Given the description of an element on the screen output the (x, y) to click on. 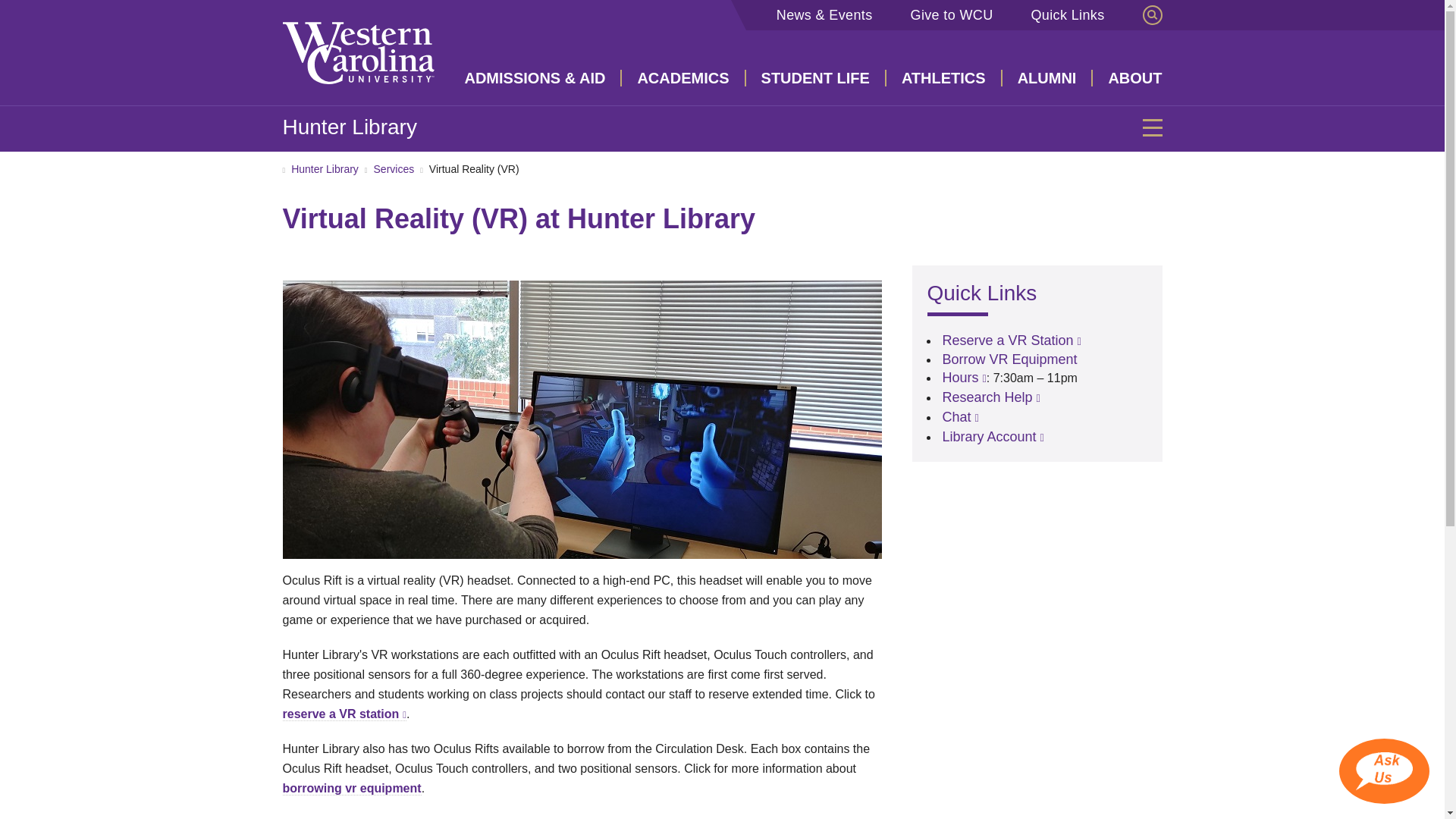
Quick Links (1071, 15)
ALUMNI (1048, 77)
ABOUT (1127, 77)
ACADEMICS (683, 77)
ATHLETICS (944, 77)
Give to WCU (955, 15)
STUDENT LIFE (815, 77)
